Given the description of an element on the screen output the (x, y) to click on. 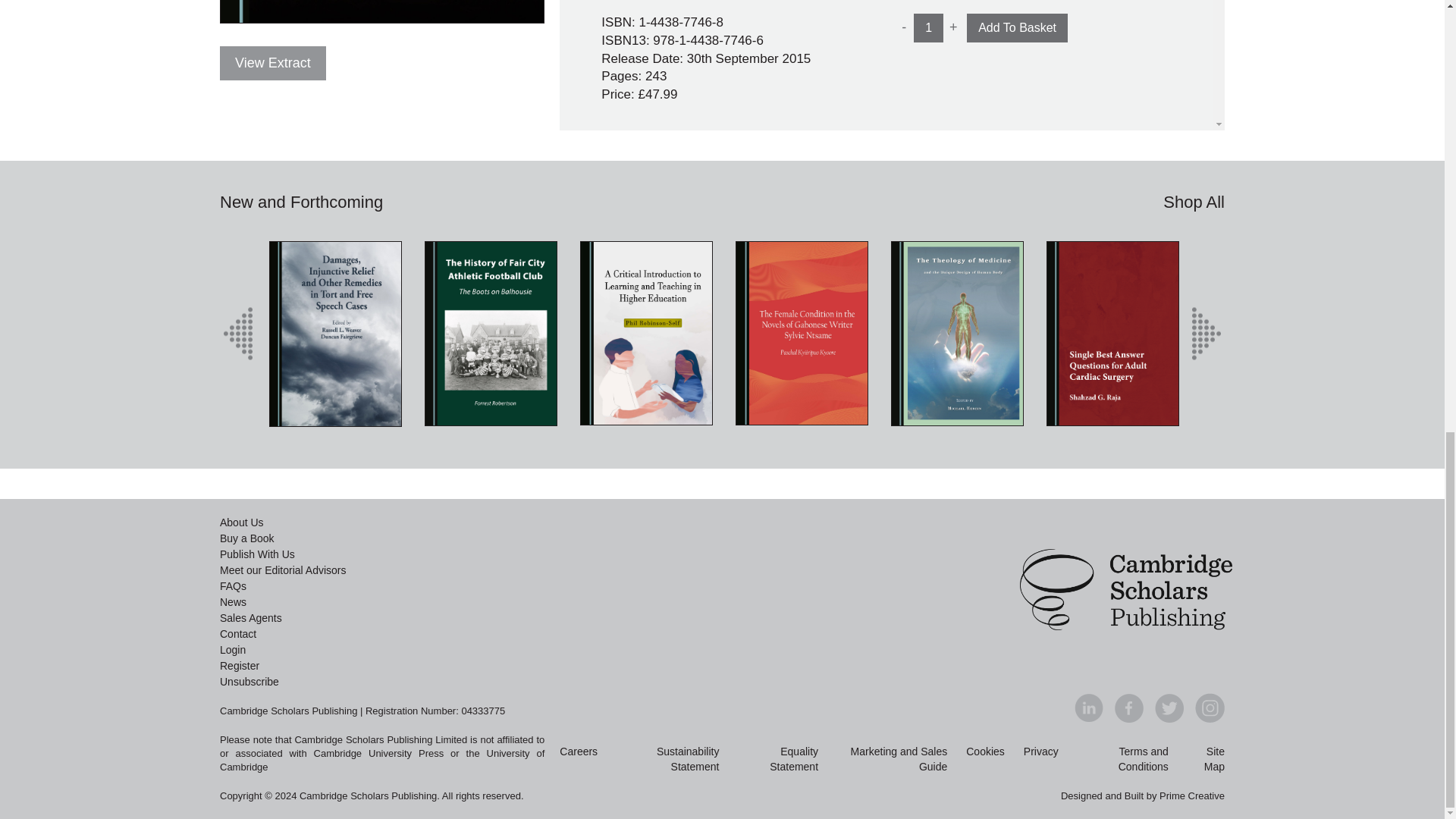
1 (928, 27)
Add To Basket (1016, 27)
